Given the description of an element on the screen output the (x, y) to click on. 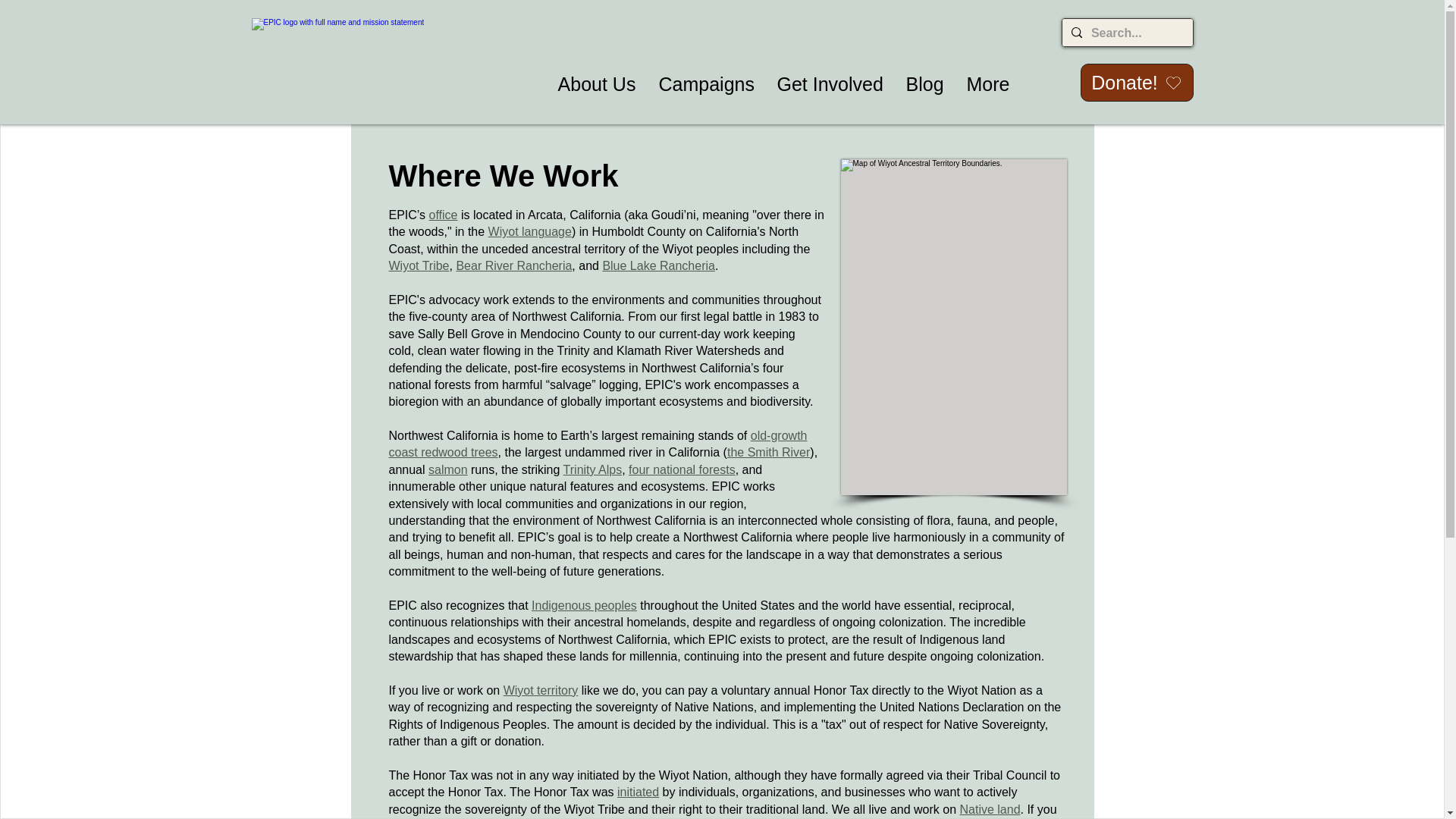
salmon (447, 469)
the Smith River (767, 451)
four national forests (681, 469)
Wiyot language (529, 231)
Trinity Alps (593, 469)
Bear River Rancheria (513, 265)
coast redwood trees (442, 451)
Indigenous peoples (584, 604)
Blog (925, 84)
Campaigns (706, 84)
